Given the description of an element on the screen output the (x, y) to click on. 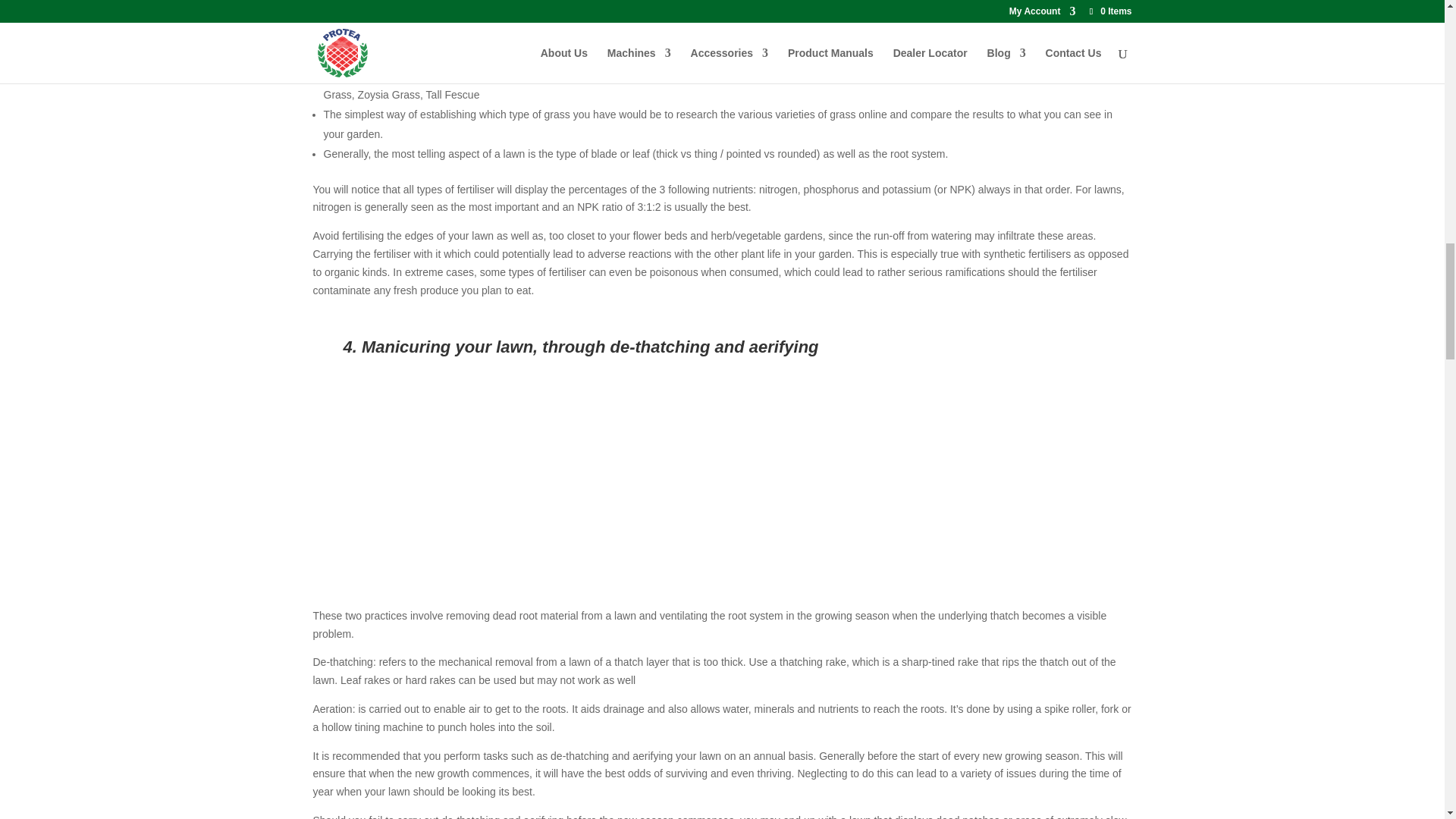
Top 4 basic principles of lawn care 3 (722, 12)
